Given the description of an element on the screen output the (x, y) to click on. 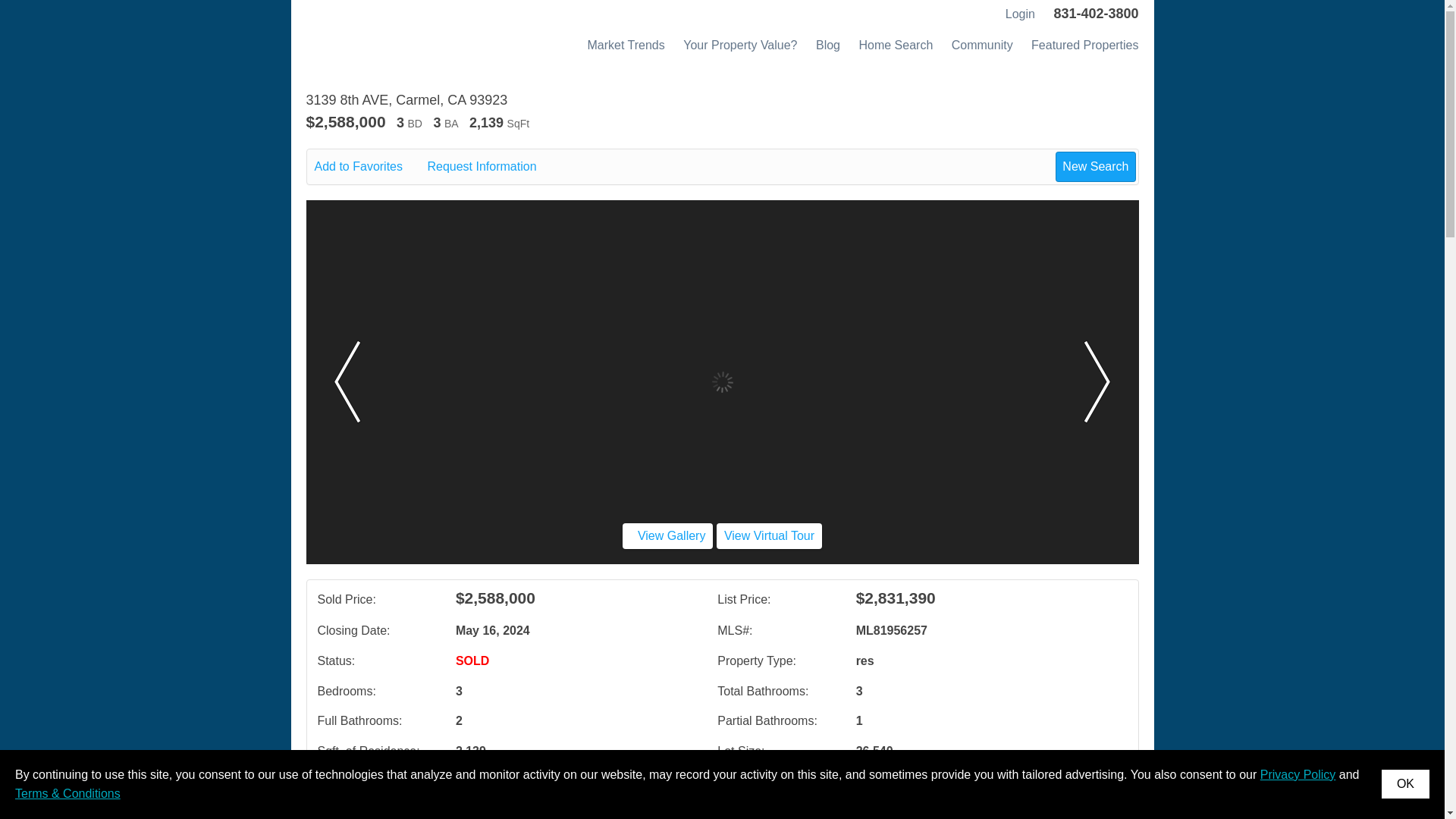
Request Information (491, 166)
Login (1018, 13)
View Virtual Tour (769, 535)
Home Search (896, 44)
Add to Favorites (368, 166)
View Gallery (668, 535)
Blog (827, 44)
Market Trends (624, 44)
View Virtual Tour (769, 535)
Community (982, 44)
Your Property Value? (739, 44)
View Gallery (668, 535)
New Search (1095, 166)
Featured Properties (1084, 44)
